Given the description of an element on the screen output the (x, y) to click on. 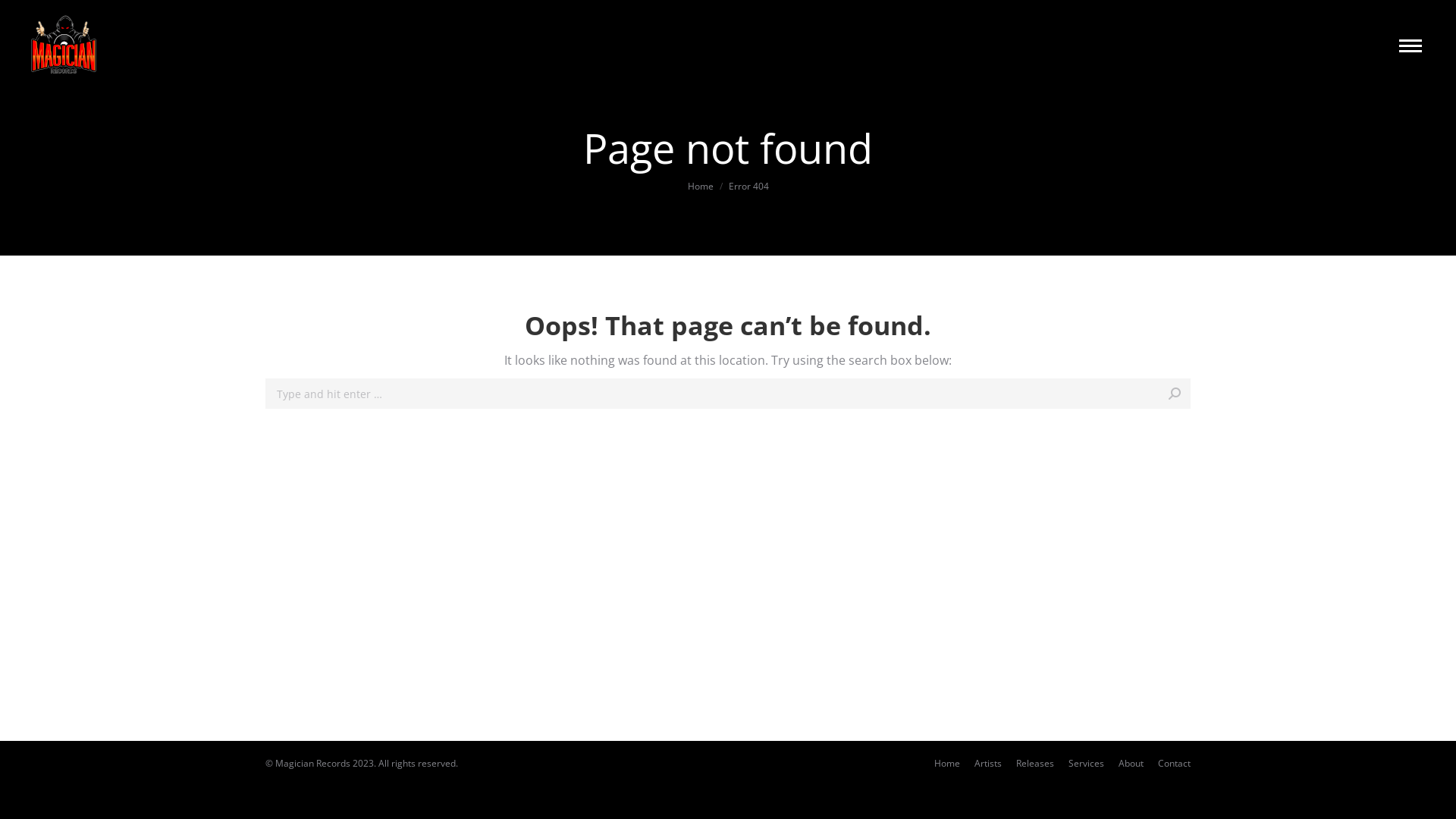
Go! Element type: text (1215, 394)
Services Element type: text (1086, 763)
Contact Element type: text (1173, 763)
Releases Element type: text (1035, 763)
Home Element type: text (699, 185)
Home Element type: text (947, 763)
Artists Element type: text (987, 763)
About Element type: text (1130, 763)
